Given the description of an element on the screen output the (x, y) to click on. 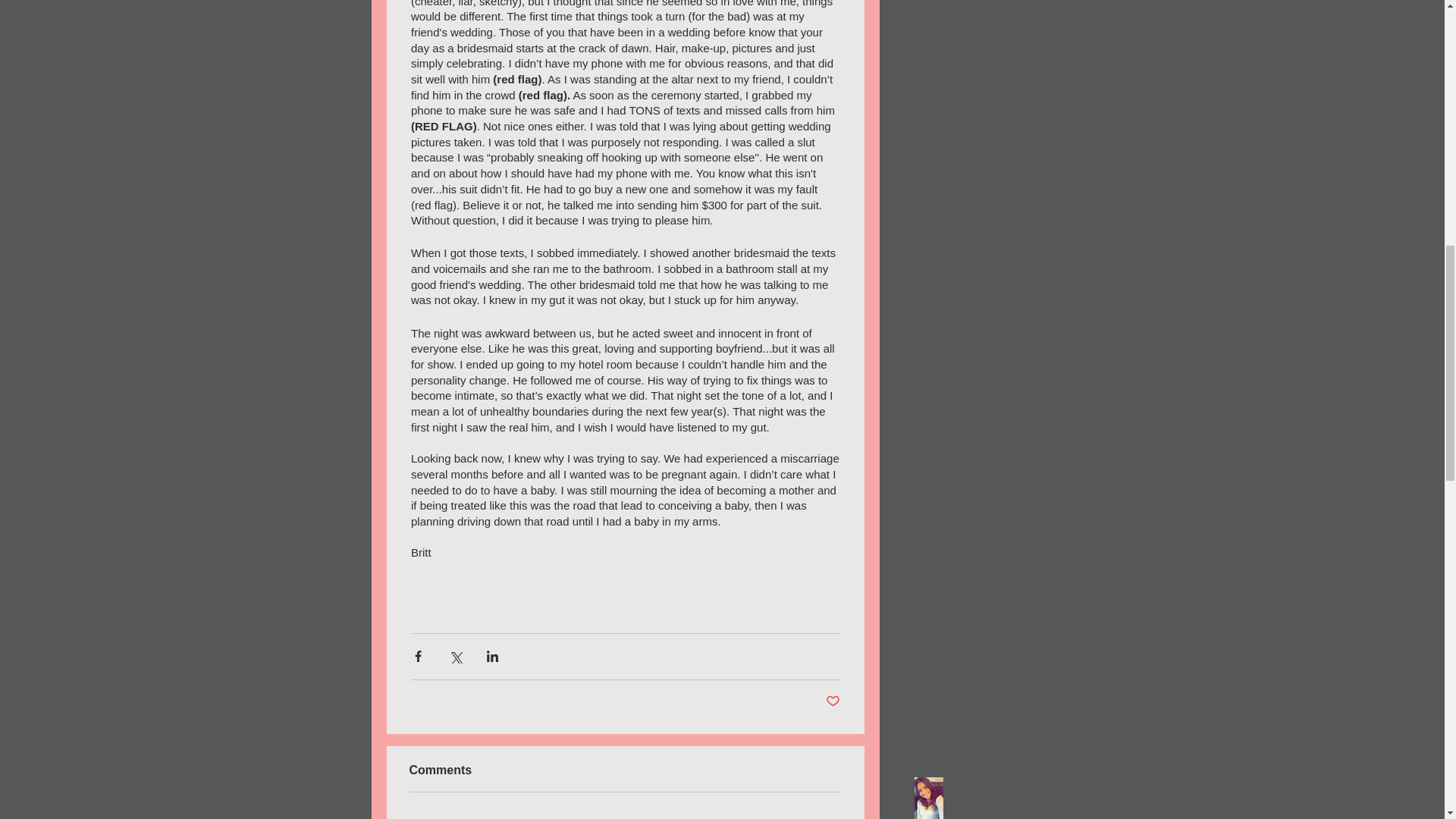
The First Red Flag (1006, 787)
Post not marked as liked (832, 701)
